Given the description of an element on the screen output the (x, y) to click on. 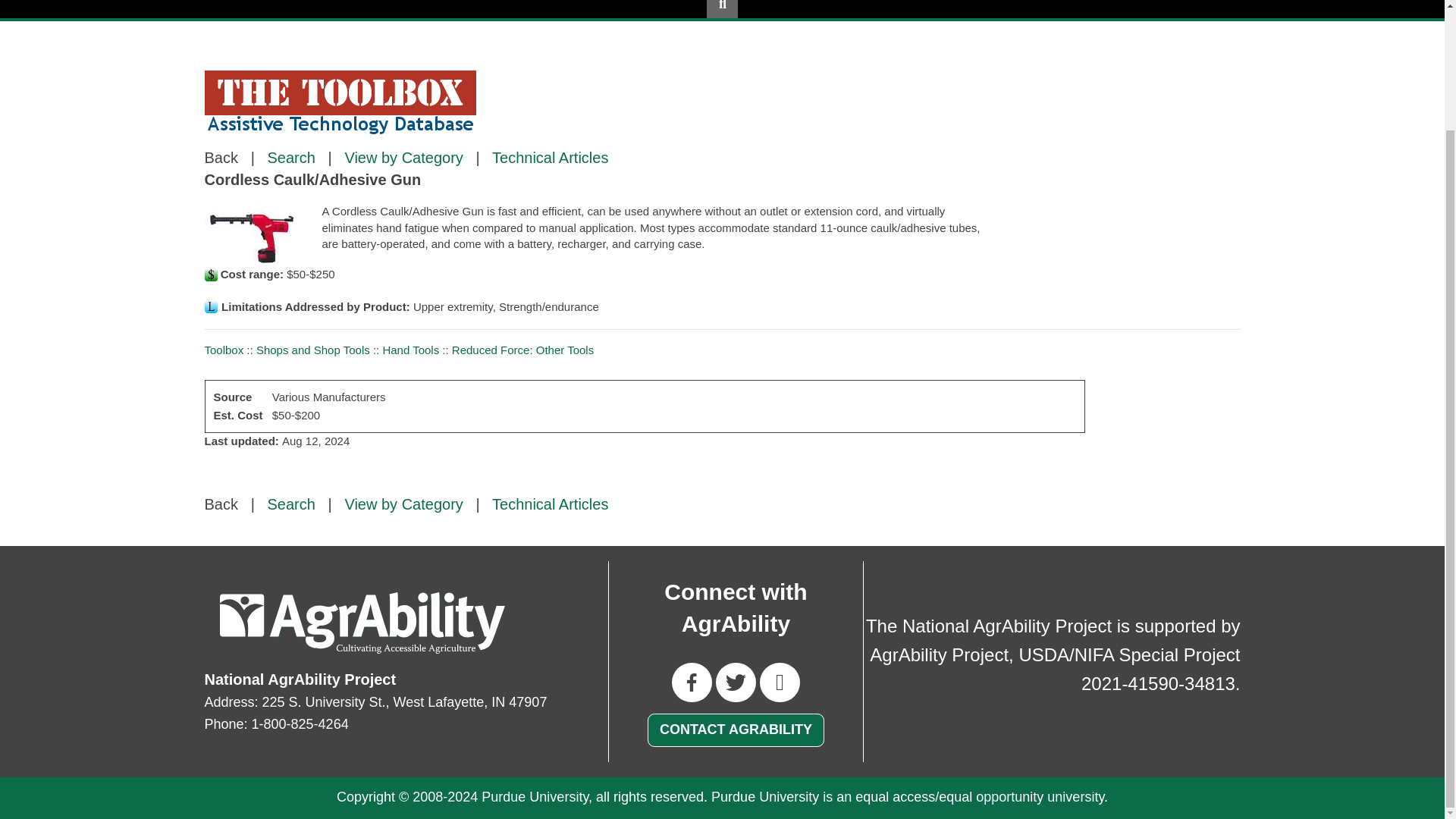
View by Category (403, 504)
Back (221, 157)
View by Category (403, 157)
Back (221, 504)
Hand Tools (410, 349)
Search (291, 504)
Technical Articles (550, 504)
Limitations (210, 306)
Toolbox (224, 349)
Technical Articles (550, 157)
